Given the description of an element on the screen output the (x, y) to click on. 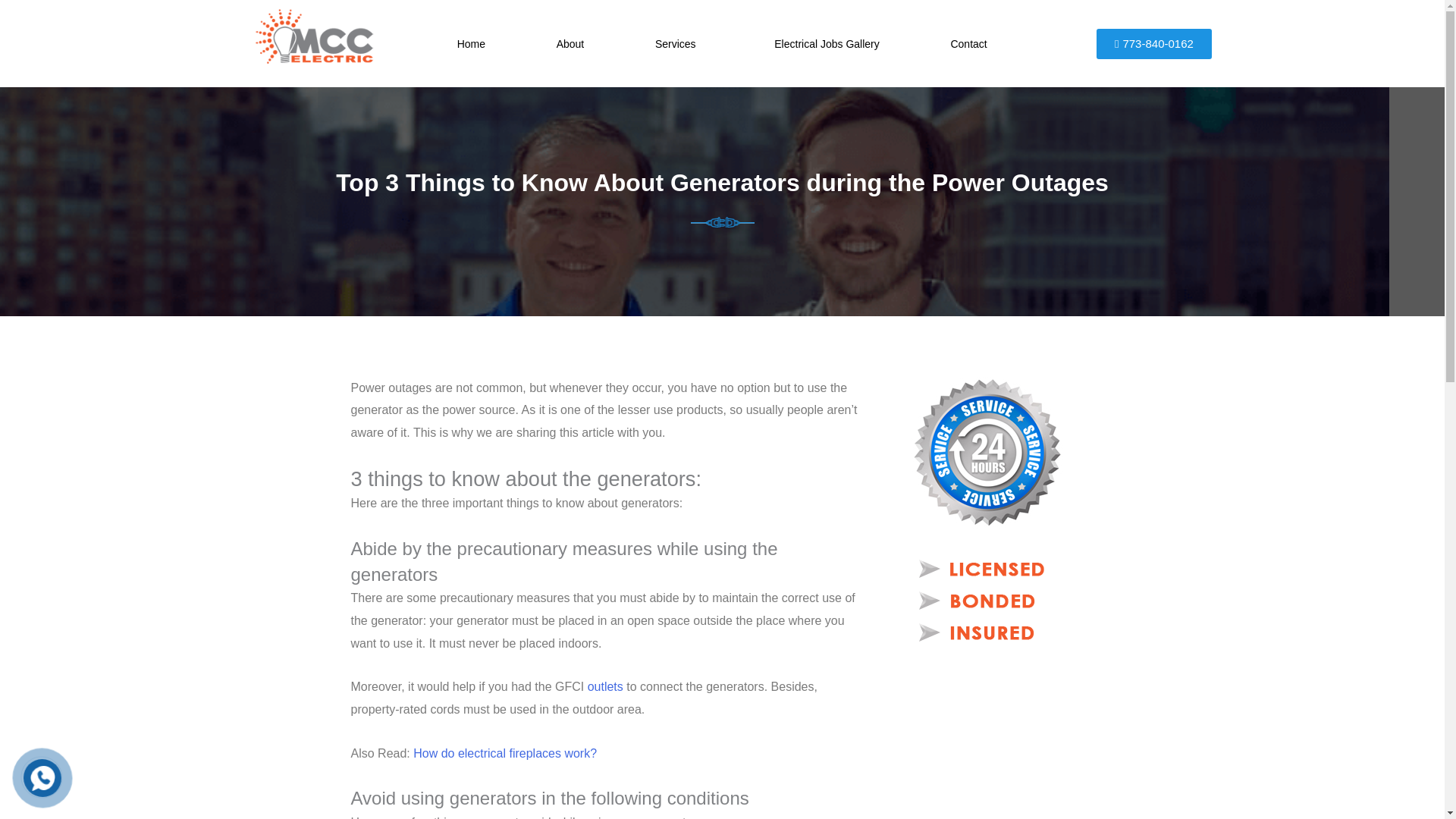
plug-free-img.png (722, 222)
Services (679, 43)
Home (471, 43)
About (570, 43)
